Given the description of an element on the screen output the (x, y) to click on. 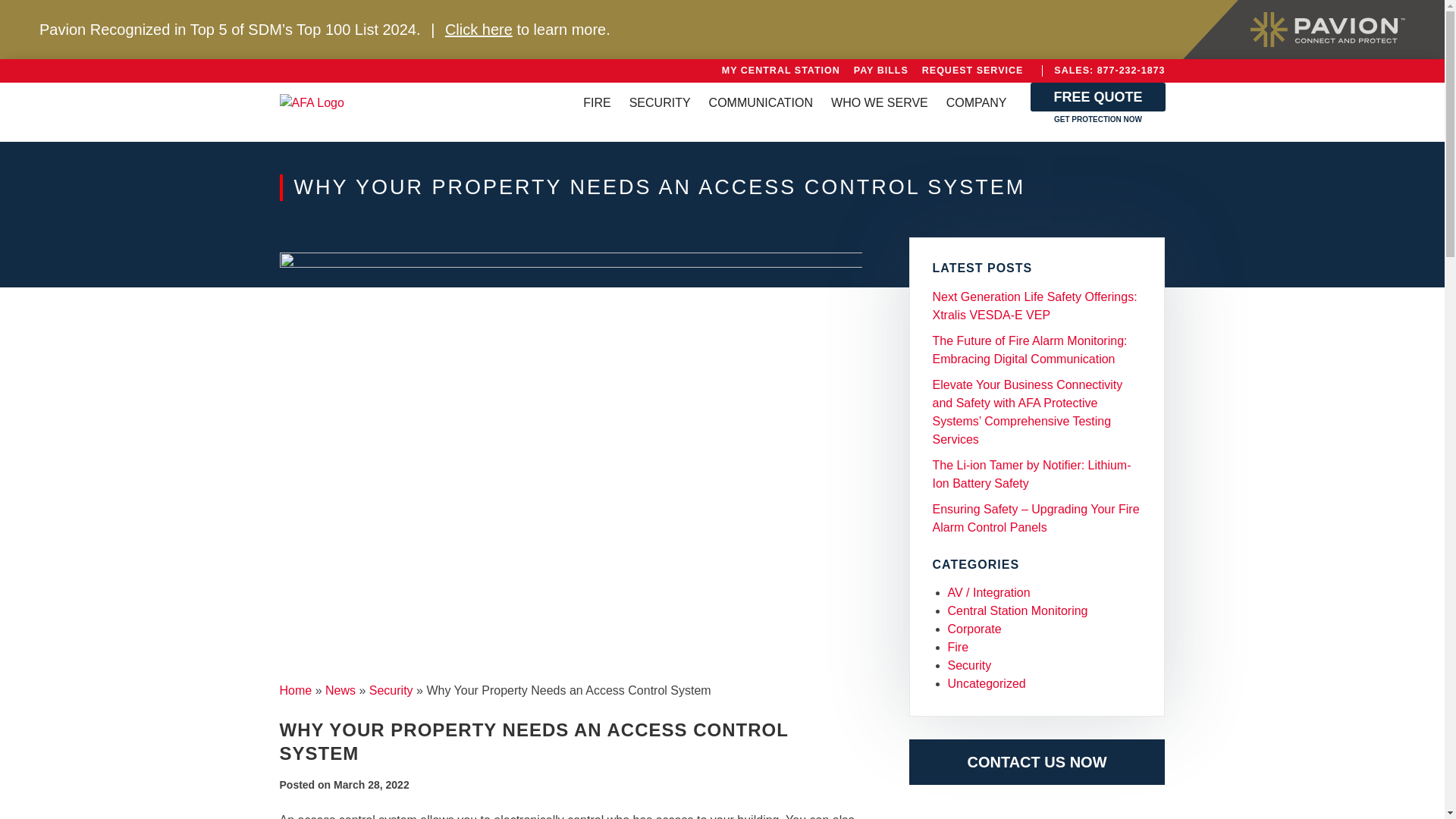
Click here (478, 29)
SECURITY (660, 103)
COMMUNICATION (761, 103)
SALES: 877-232-1873 (1109, 70)
REQUEST SERVICE (972, 70)
FIRE (596, 103)
MY CENTRAL STATION (780, 70)
PAY BILLS (880, 70)
